Given the description of an element on the screen output the (x, y) to click on. 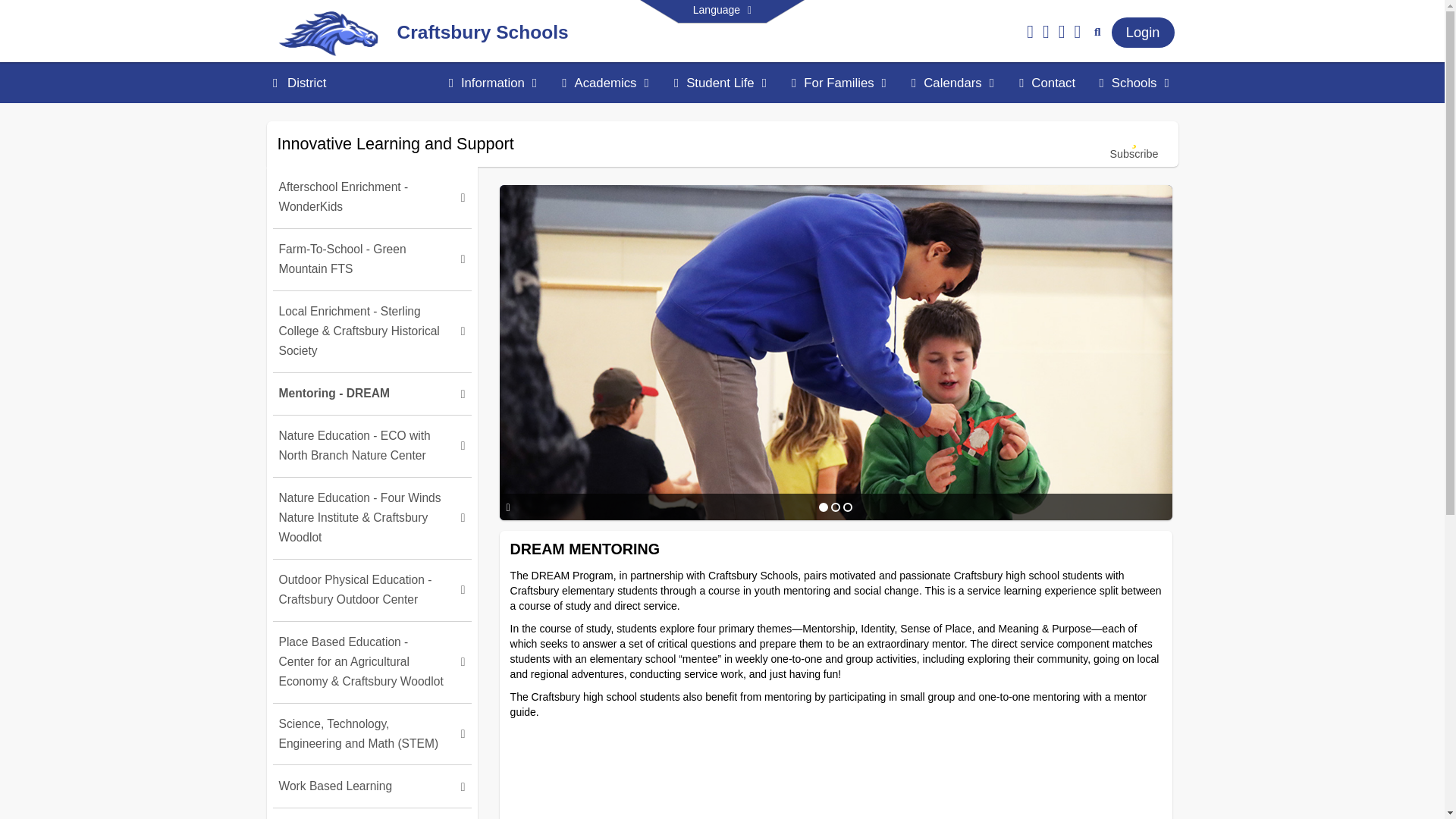
Schools (1134, 83)
Contact (1047, 83)
Afterschool Enrichment - WonderKids (372, 196)
Calendars (953, 83)
Login (1143, 32)
Mentoring - DREAM (372, 393)
Work Based Learning (372, 785)
District (306, 83)
Outdoor Physical Education - Craftsbury Outdoor Center (372, 590)
Innovative Learning and Support (395, 143)
Academics (606, 83)
Craftsbury Schools (483, 34)
Information (493, 83)
Language (721, 11)
